Given the description of an element on the screen output the (x, y) to click on. 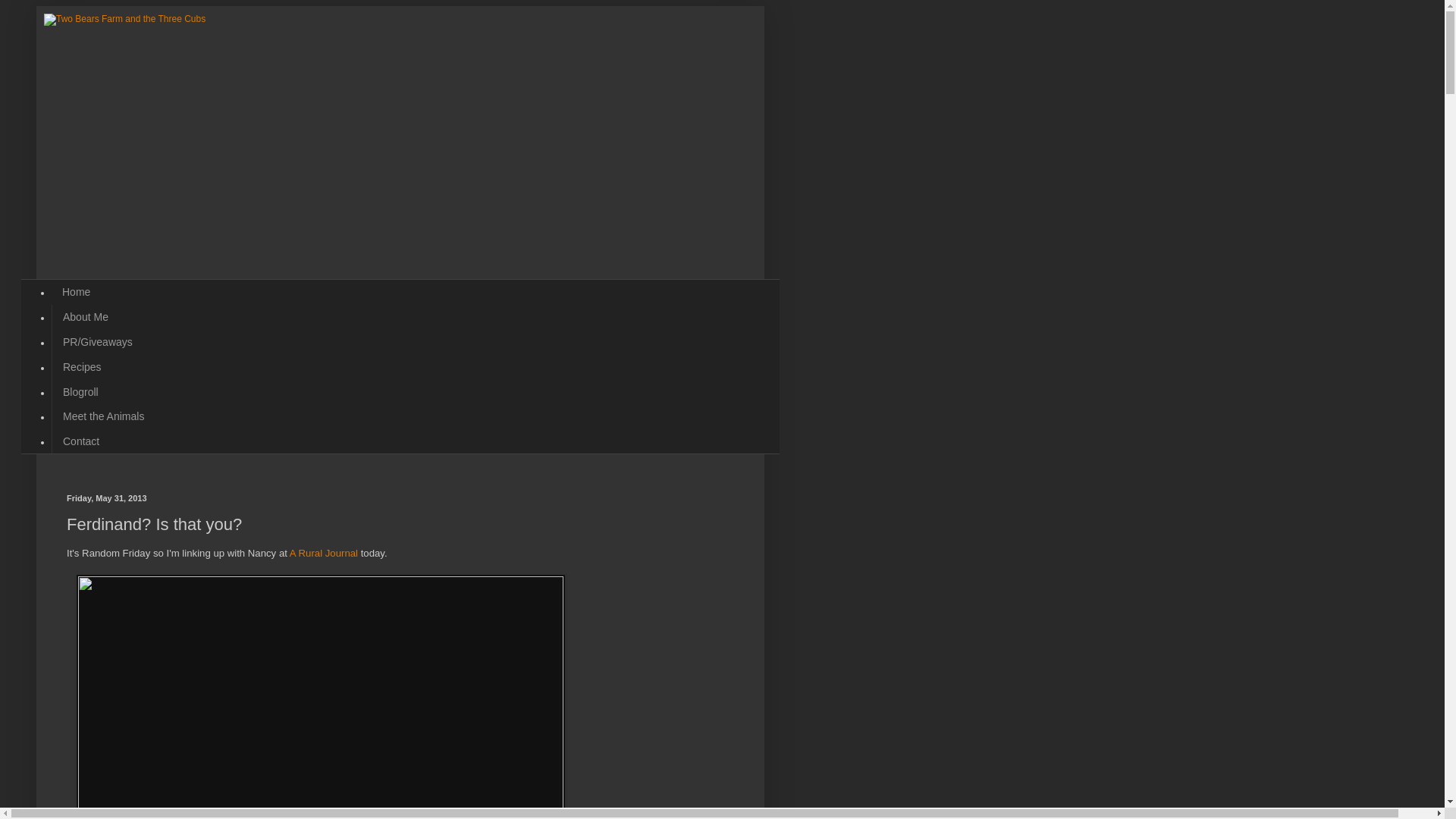
Recipes (81, 366)
Meet the Animals (102, 416)
Home (75, 292)
cow (320, 696)
A Rural Journal (323, 552)
Blogroll (79, 391)
About Me (84, 317)
Contact (80, 441)
